Given the description of an element on the screen output the (x, y) to click on. 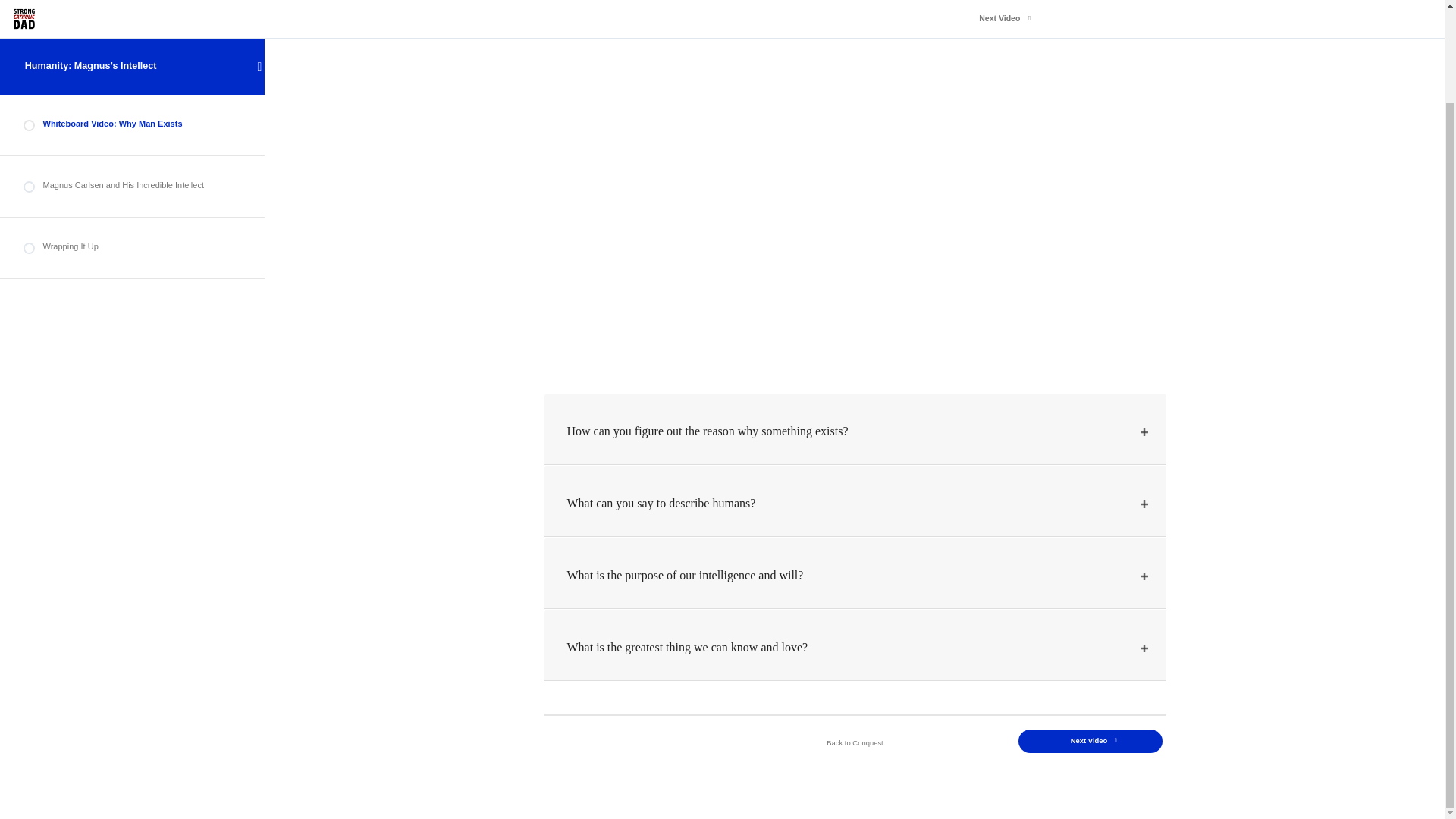
Wrapping It Up (133, 140)
Whiteboard Video: Why Man Exists (133, 19)
Magnus Carlsen and His Incredible Intellect (133, 78)
Back to Conquest (854, 743)
Next Video (1089, 740)
